Given the description of an element on the screen output the (x, y) to click on. 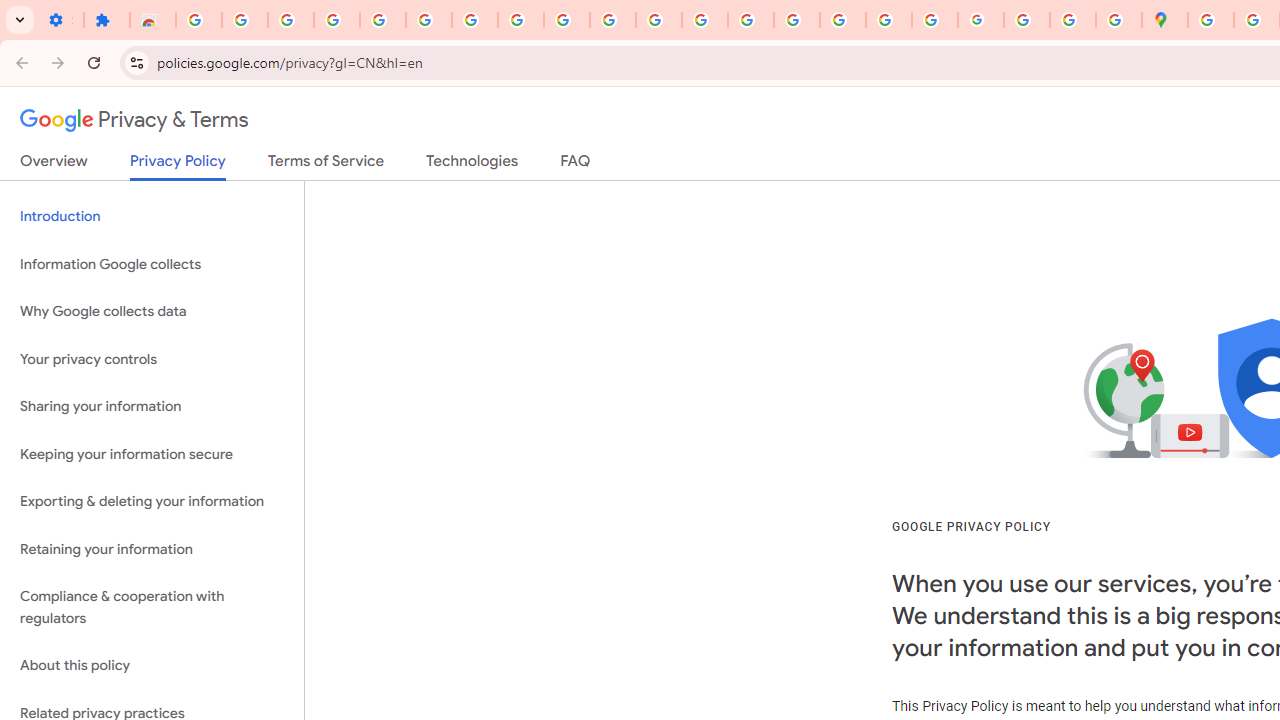
Sign in - Google Accounts (382, 20)
